Given the description of an element on the screen output the (x, y) to click on. 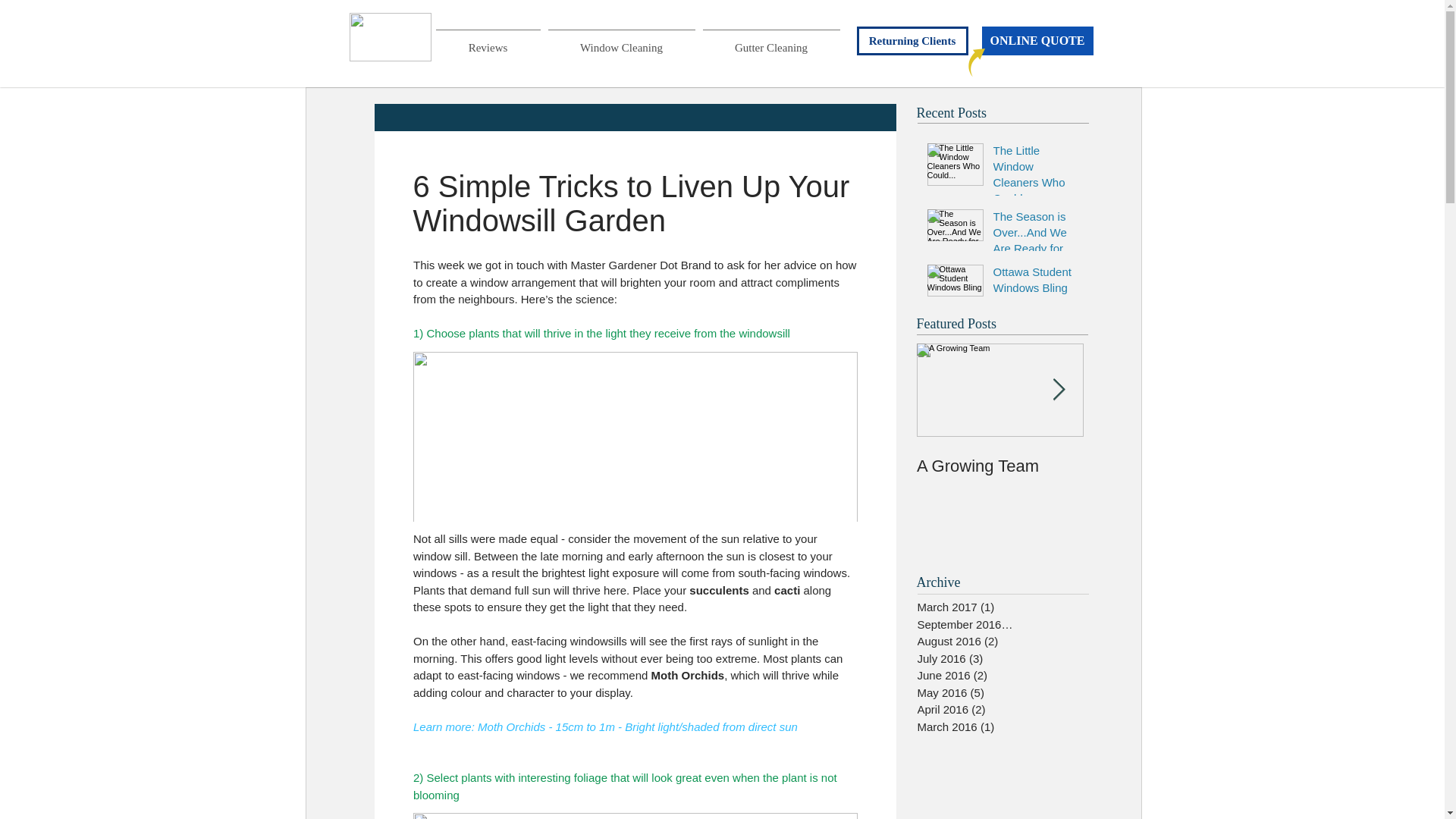
Gutter Cleaning (771, 40)
Reviews (488, 40)
osw2.png (389, 37)
The Little Window Cleaners Who Could... (1033, 177)
A Growing Team (999, 465)
Window Cleaning (621, 40)
The Season is Over...And We Are Ready for Another! (1033, 243)
ONLINE QUOTE (1037, 40)
Ottawa Student Windows Bling (1033, 282)
Returning Clients (912, 40)
